Given the description of an element on the screen output the (x, y) to click on. 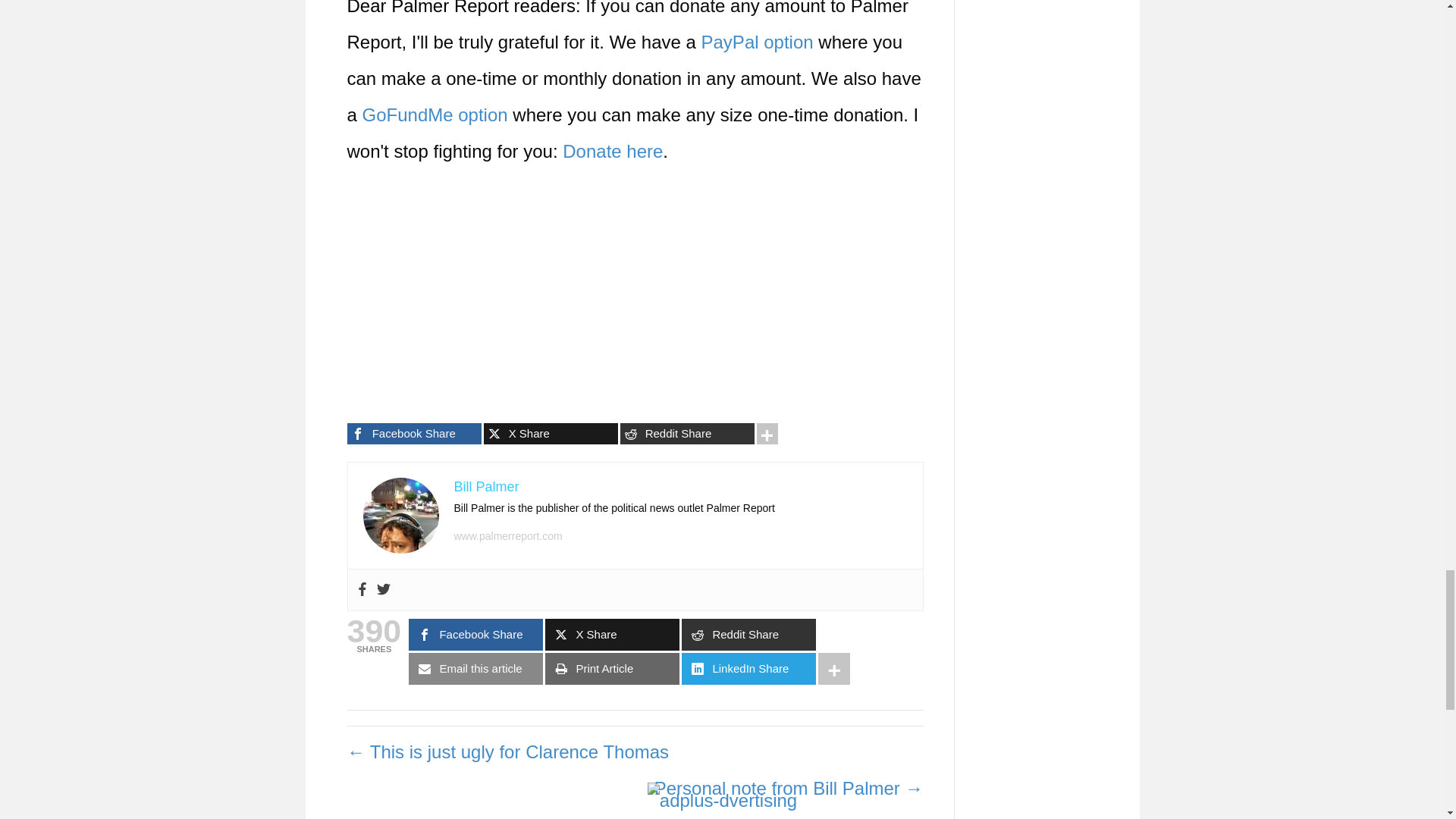
Facebook Share (414, 433)
PayPal option (757, 41)
Donate here (612, 150)
X Share (550, 433)
Reddit Share (687, 433)
GoFundMe option (435, 114)
